Given the description of an element on the screen output the (x, y) to click on. 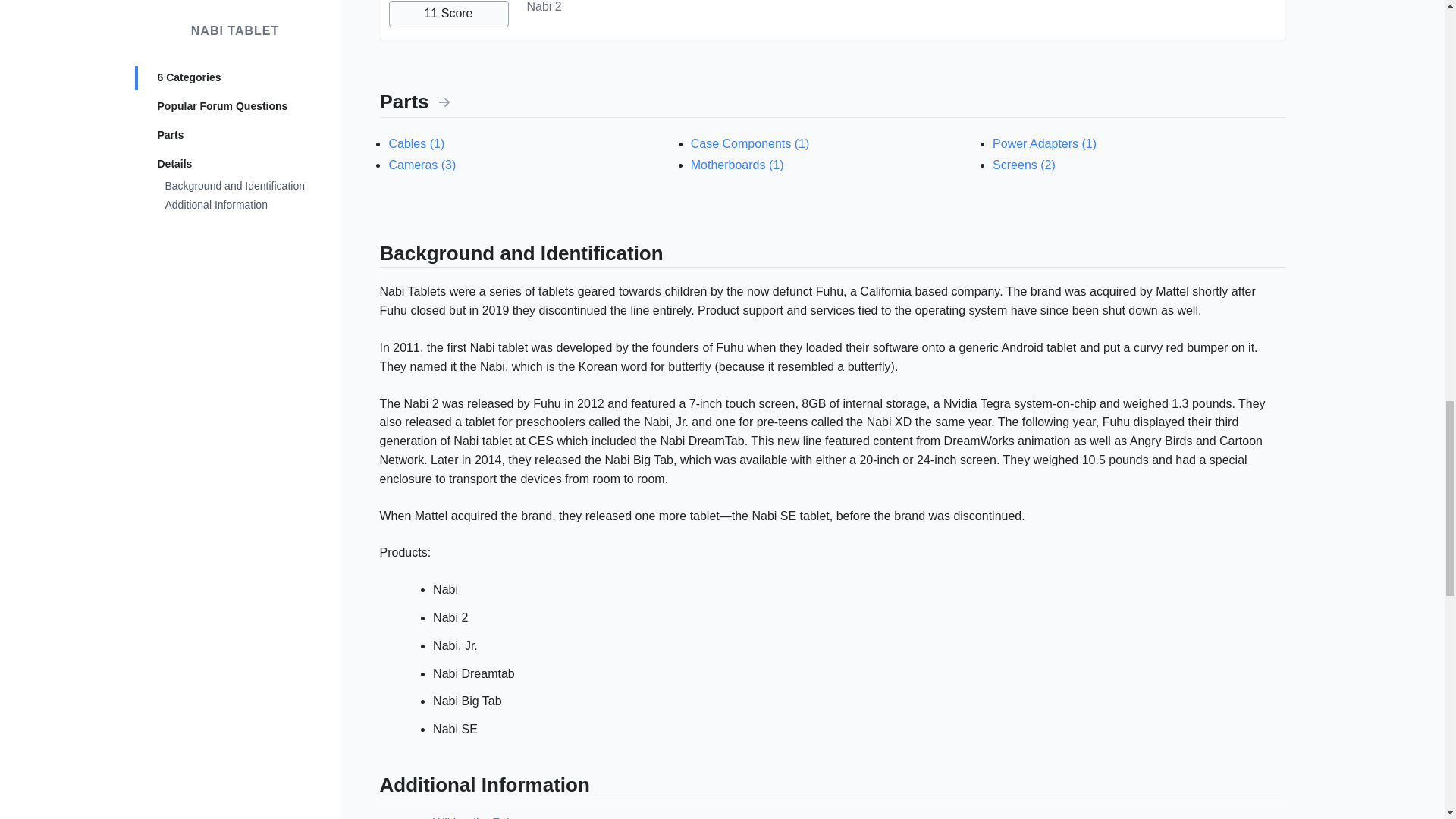
Link to this section (371, 787)
Link to this section (371, 256)
